Given the description of an element on the screen output the (x, y) to click on. 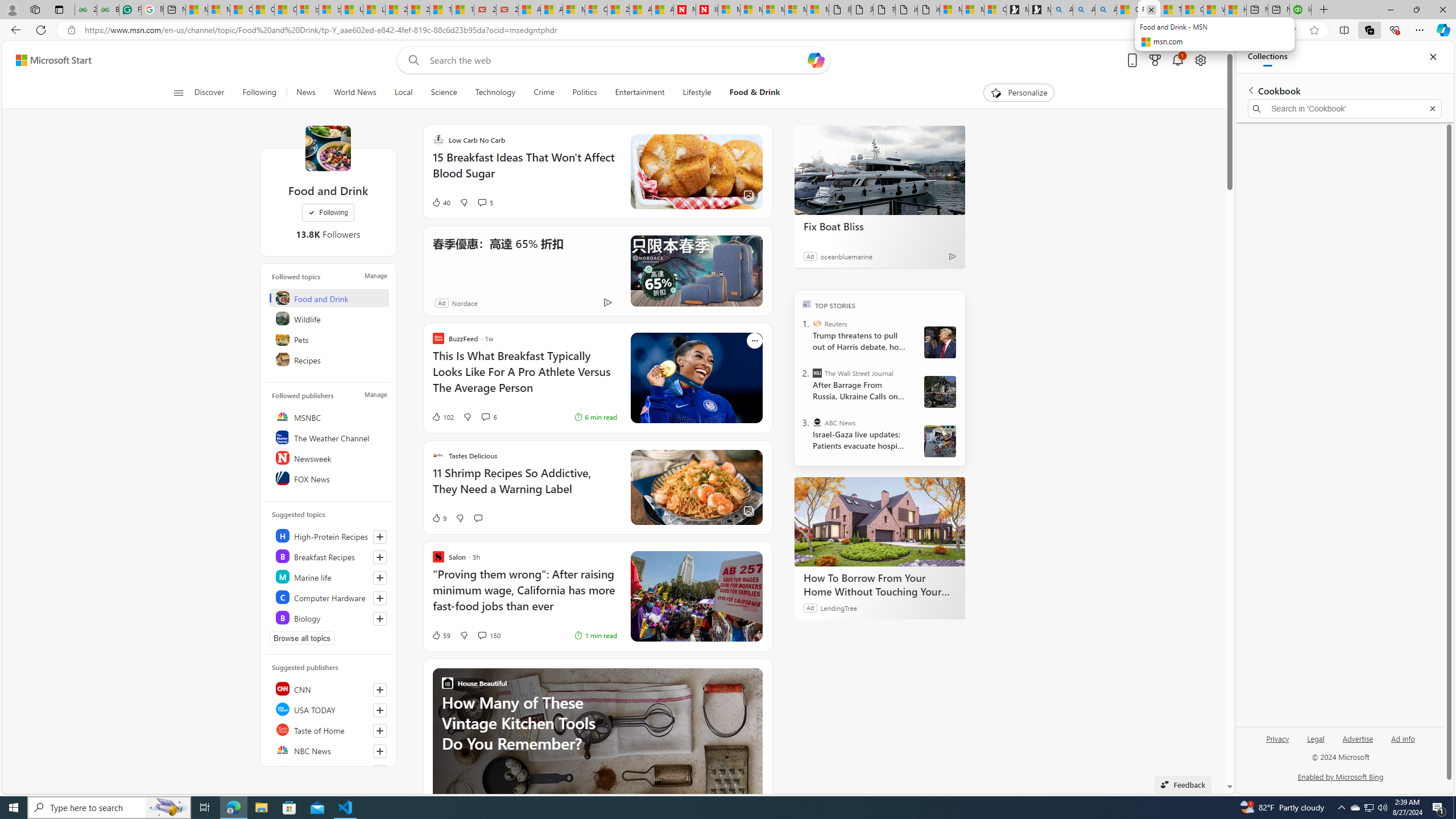
View comments 150 Comment (489, 635)
Alabama high school quarterback dies - Search (1061, 9)
CNN - MSN (1192, 9)
The Weather Channel (328, 437)
Intuit QuickBooks Online - Quickbooks (1300, 9)
